Given the description of an element on the screen output the (x, y) to click on. 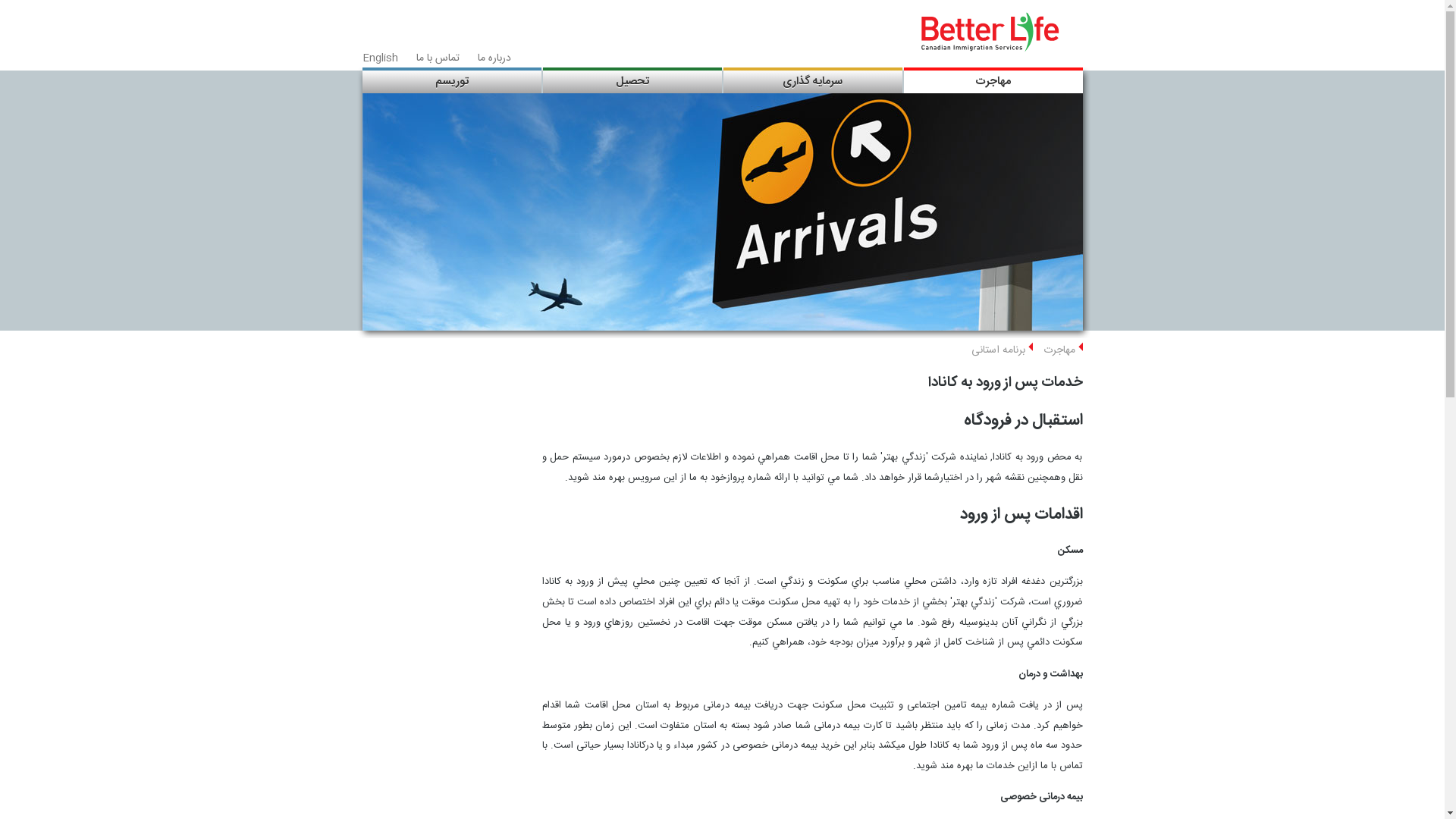
English Element type: text (380, 58)
